Given the description of an element on the screen output the (x, y) to click on. 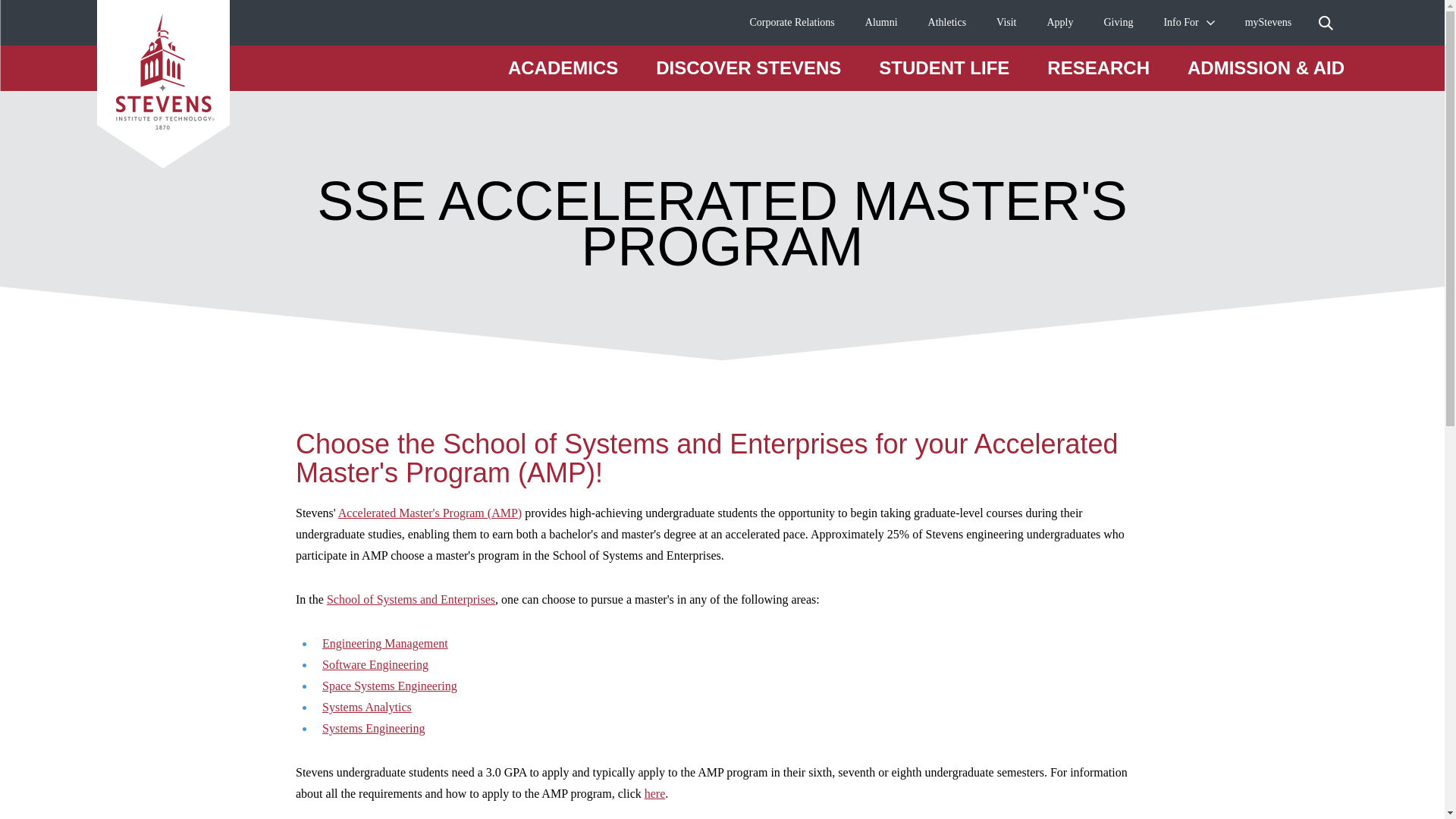
myStevens (1267, 22)
Corporate Relations (791, 22)
Info For (1180, 22)
Alumni (881, 22)
ACADEMICS (562, 67)
Athletics (947, 22)
Visit (1005, 22)
Apply (1059, 22)
Giving (1118, 22)
